Given the description of an element on the screen output the (x, y) to click on. 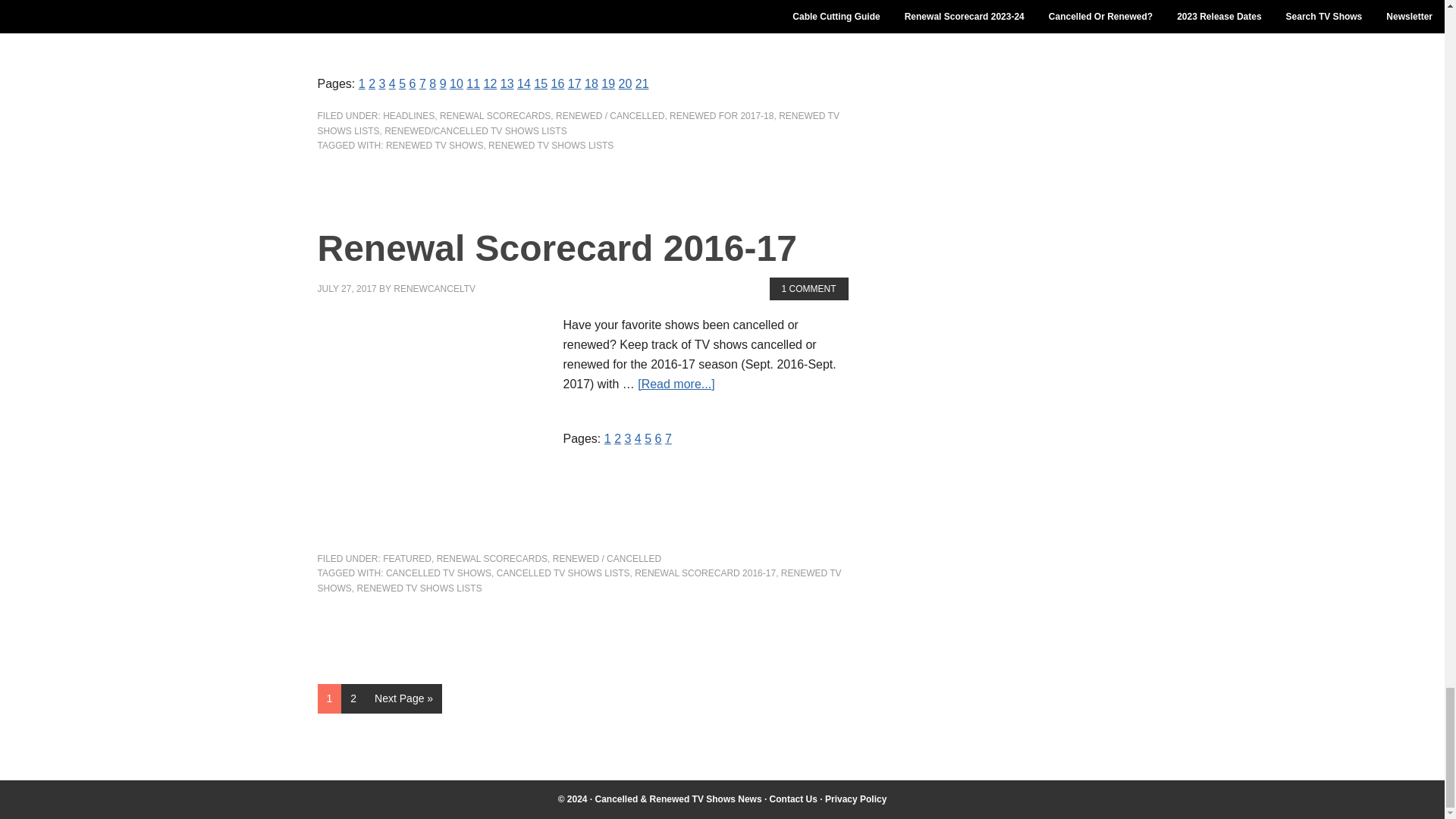
RenewCancelTV (678, 798)
